Given the description of an element on the screen output the (x, y) to click on. 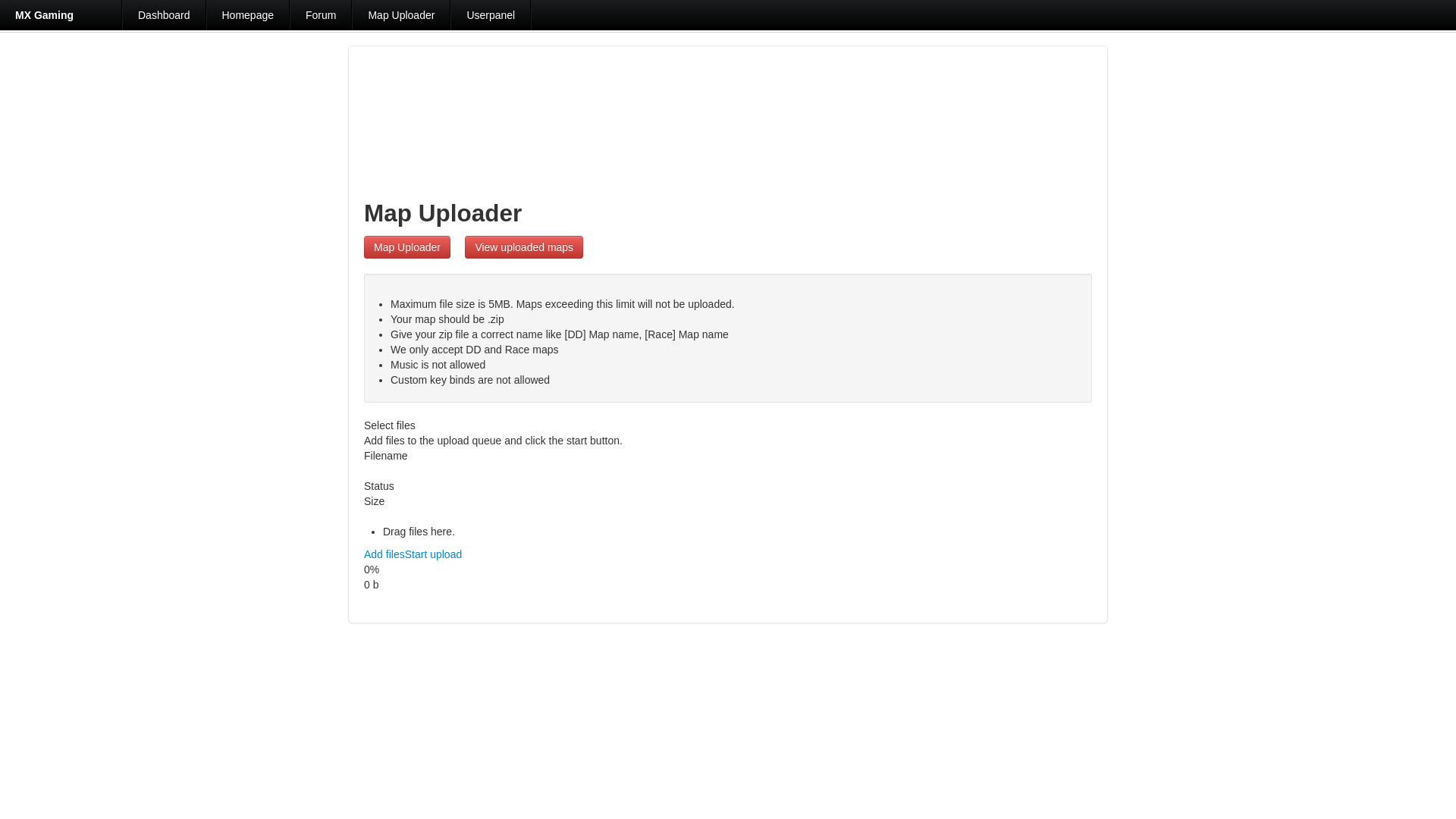
Homepage (247, 15)
Map Uploader (400, 15)
Forum (320, 15)
Start upload (433, 553)
Dashboard (164, 15)
Map Uploader (406, 246)
Userpanel (490, 15)
View uploaded maps (523, 246)
Add files (384, 553)
